Given the description of an element on the screen output the (x, y) to click on. 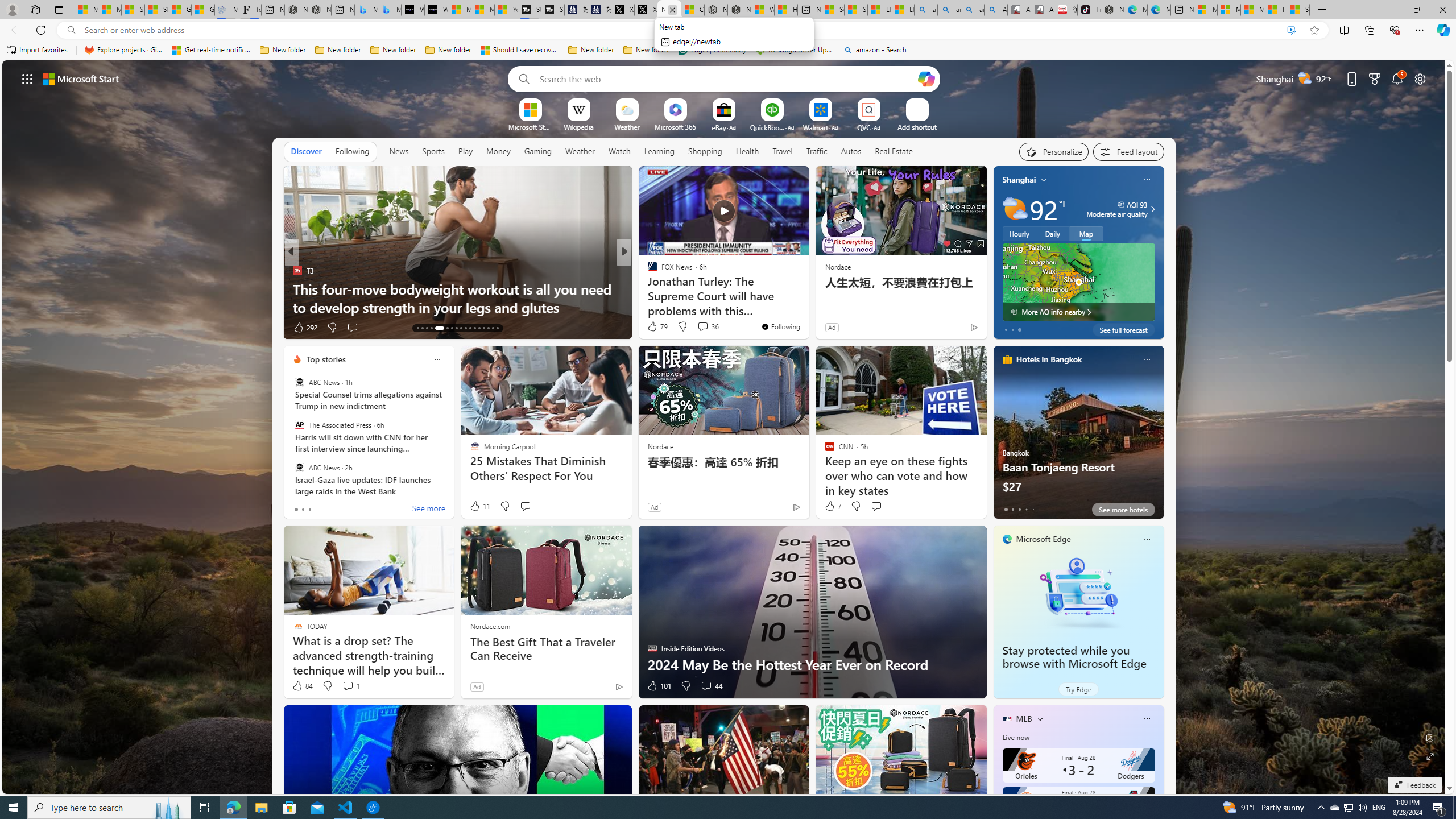
More AQ info nearby (1077, 311)
AutomationID: tab-20 (456, 328)
Partly sunny (1014, 208)
More interests (1039, 718)
View comments 44 Comment (710, 685)
Microsoft 365 (675, 126)
Watch (619, 151)
The Weather Channel (647, 270)
Wildlife - MSN (761, 9)
Close (1442, 9)
Travel (782, 151)
Ad (476, 686)
